Given the description of an element on the screen output the (x, y) to click on. 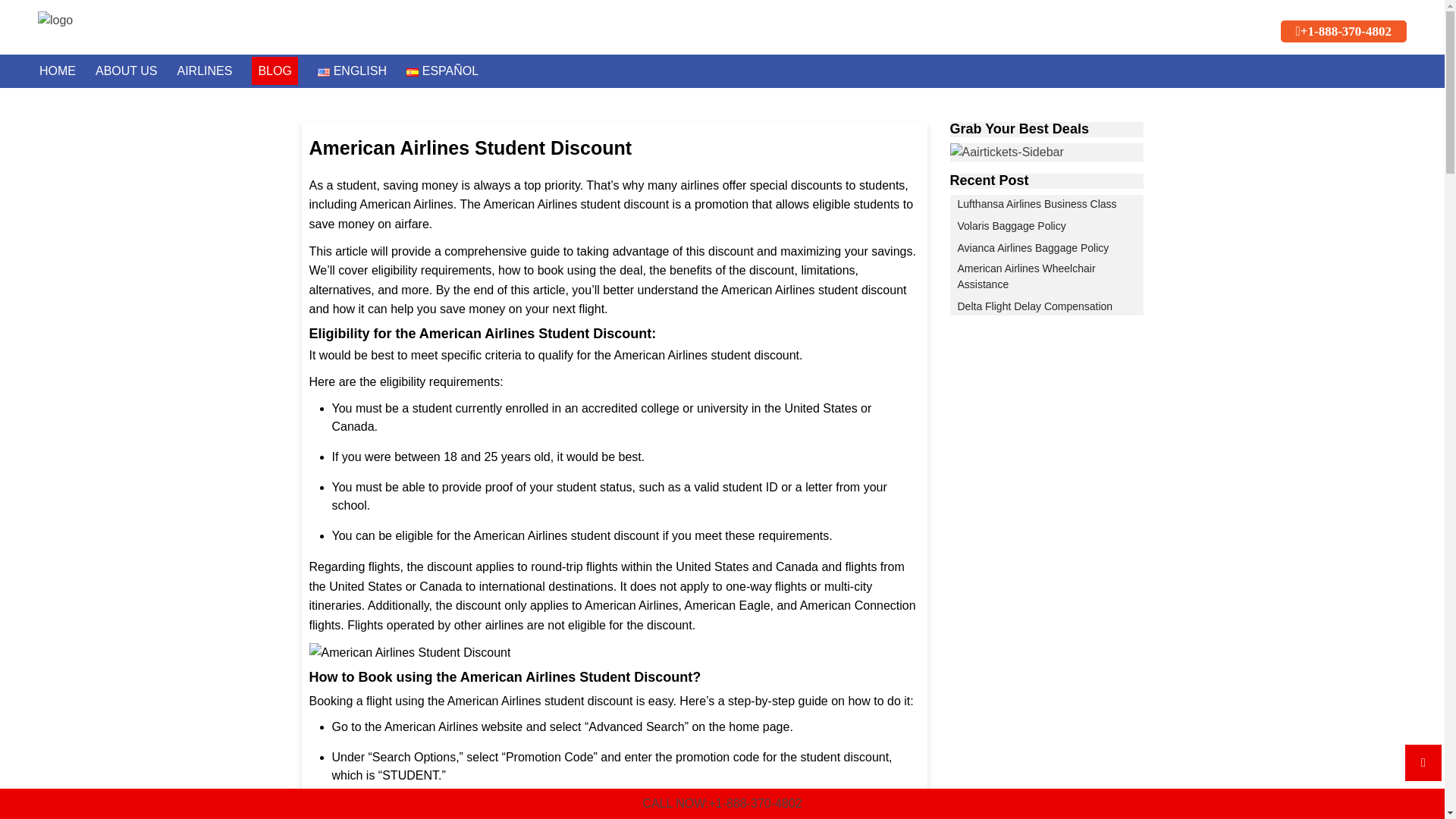
Delta Flight Delay Compensation (1034, 306)
Avianca Airlines Baggage Policy (1032, 248)
Lufthansa Airlines Business Class (1036, 204)
BLOG (274, 70)
Volaris Baggage Policy (1010, 226)
ABOUT US (126, 70)
ENGLISH (352, 70)
AIRLINES (204, 70)
American Airlines Wheelchair Assistance (1045, 276)
HOME (57, 70)
